Given the description of an element on the screen output the (x, y) to click on. 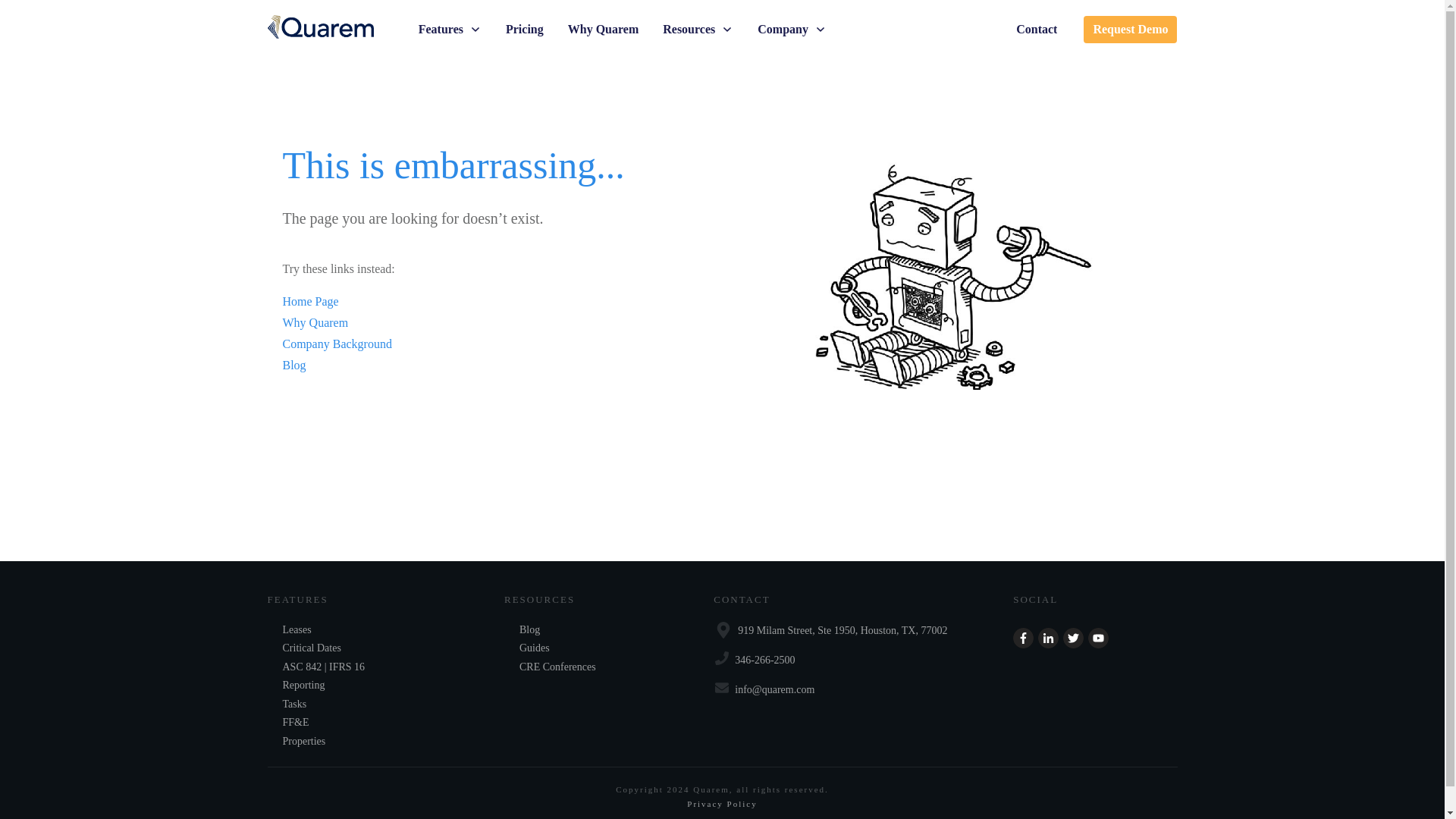
Contact (1036, 29)
Request Demo (1130, 29)
Features (450, 29)
Why Quarem (603, 29)
Resources (697, 29)
Company (792, 29)
404-robot (952, 280)
Pricing (524, 29)
